Given the description of an element on the screen output the (x, y) to click on. 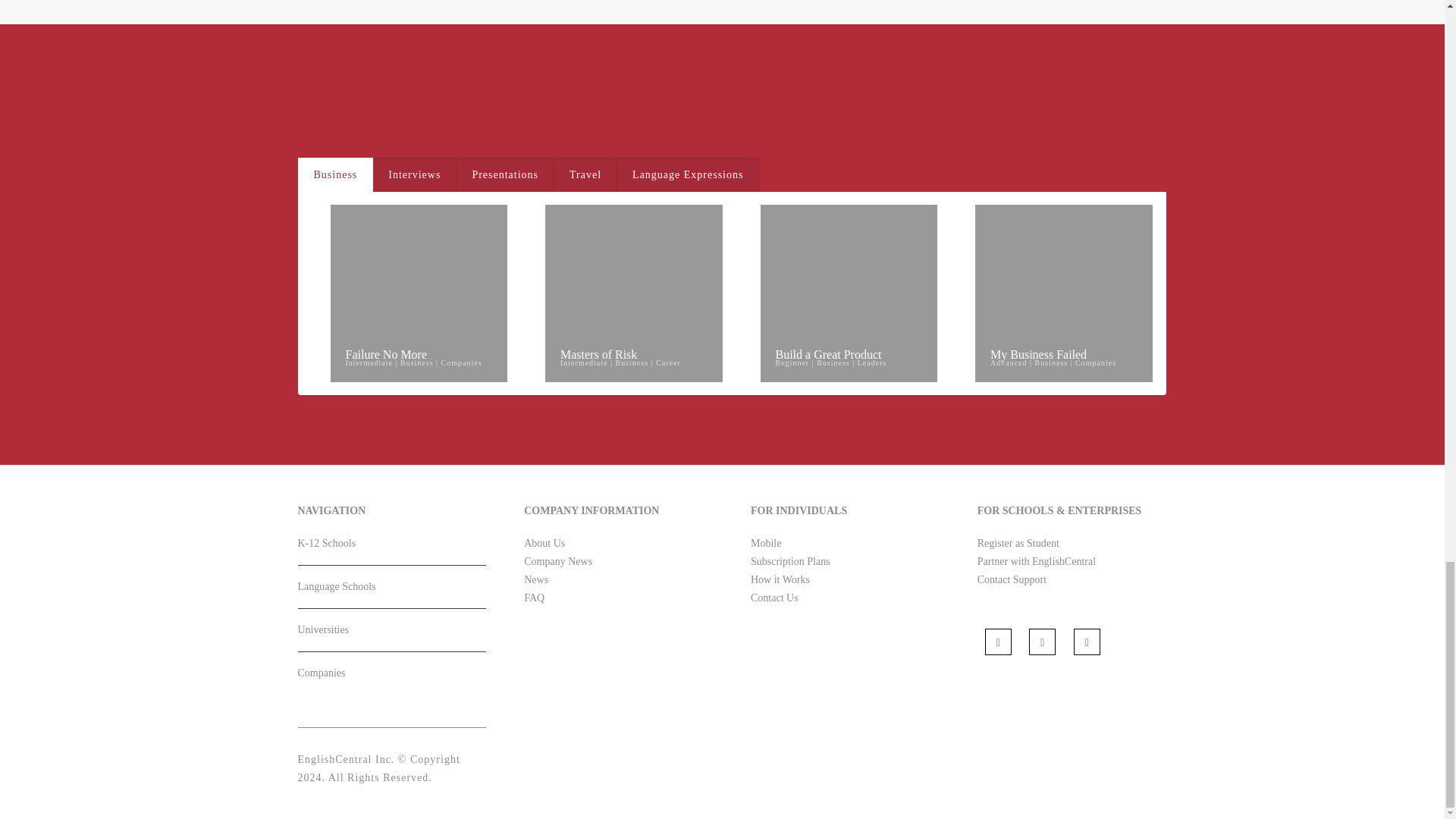
Language Schools (391, 593)
News (536, 579)
Companies (391, 679)
Interviews (413, 174)
Travel (584, 174)
Presentations (505, 174)
Language Expressions (687, 174)
FAQ (534, 597)
Company News (558, 561)
About Us (544, 542)
